Given the description of an element on the screen output the (x, y) to click on. 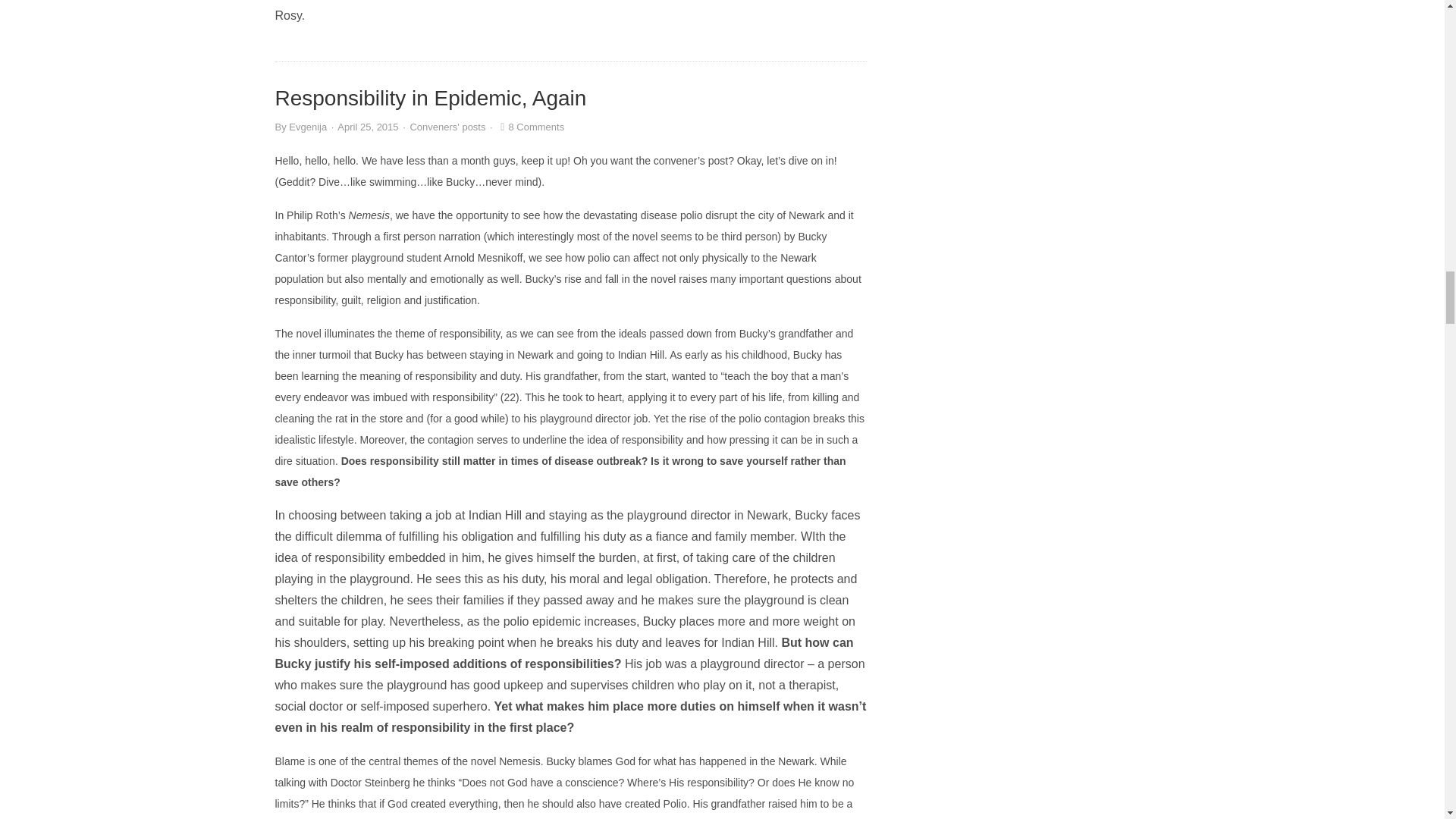
Posts by Evgenija (307, 126)
8 Comments (530, 126)
Responsibility in Epidemic, Again (430, 97)
Conveners' posts (446, 126)
Permanent Link to Responsibility in Epidemic, Again (430, 97)
Evgenija (307, 126)
